Given the description of an element on the screen output the (x, y) to click on. 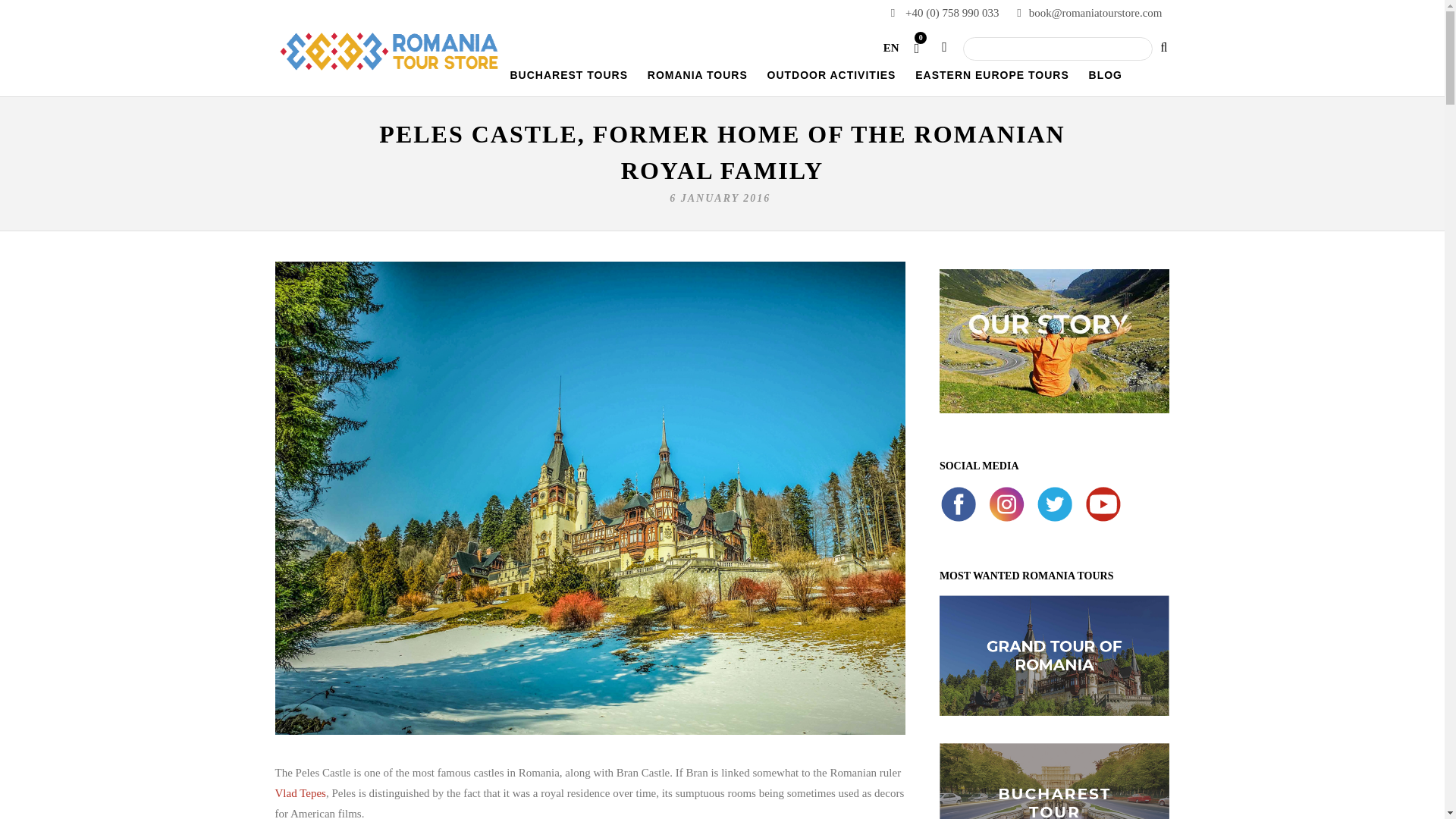
Vlad Tepes (299, 793)
OUTDOOR ACTIVITIES (832, 81)
BLOG (1105, 81)
EASTERN EUROPE TOURS (992, 81)
BUCHAREST TOURS (568, 81)
ROMANIA TOURS (697, 81)
